Given the description of an element on the screen output the (x, y) to click on. 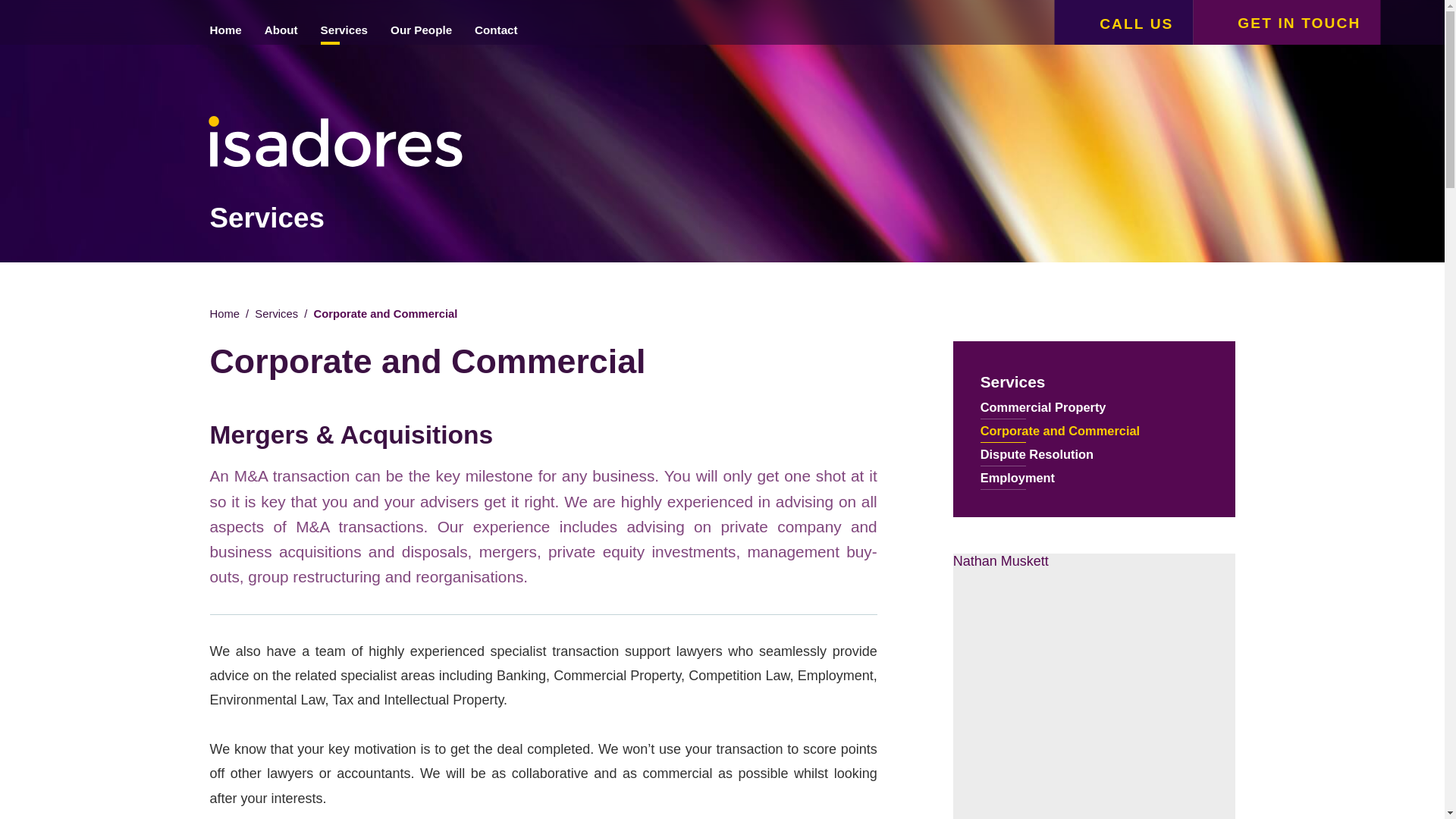
Contact (496, 22)
About (280, 22)
Services (1093, 381)
Services (344, 22)
Corporate and Commercial (1093, 431)
Commercial Property (1093, 407)
GET IN TOUCH (1286, 22)
Nathan Muskett (1000, 560)
Home (225, 22)
Home (223, 313)
